Given the description of an element on the screen output the (x, y) to click on. 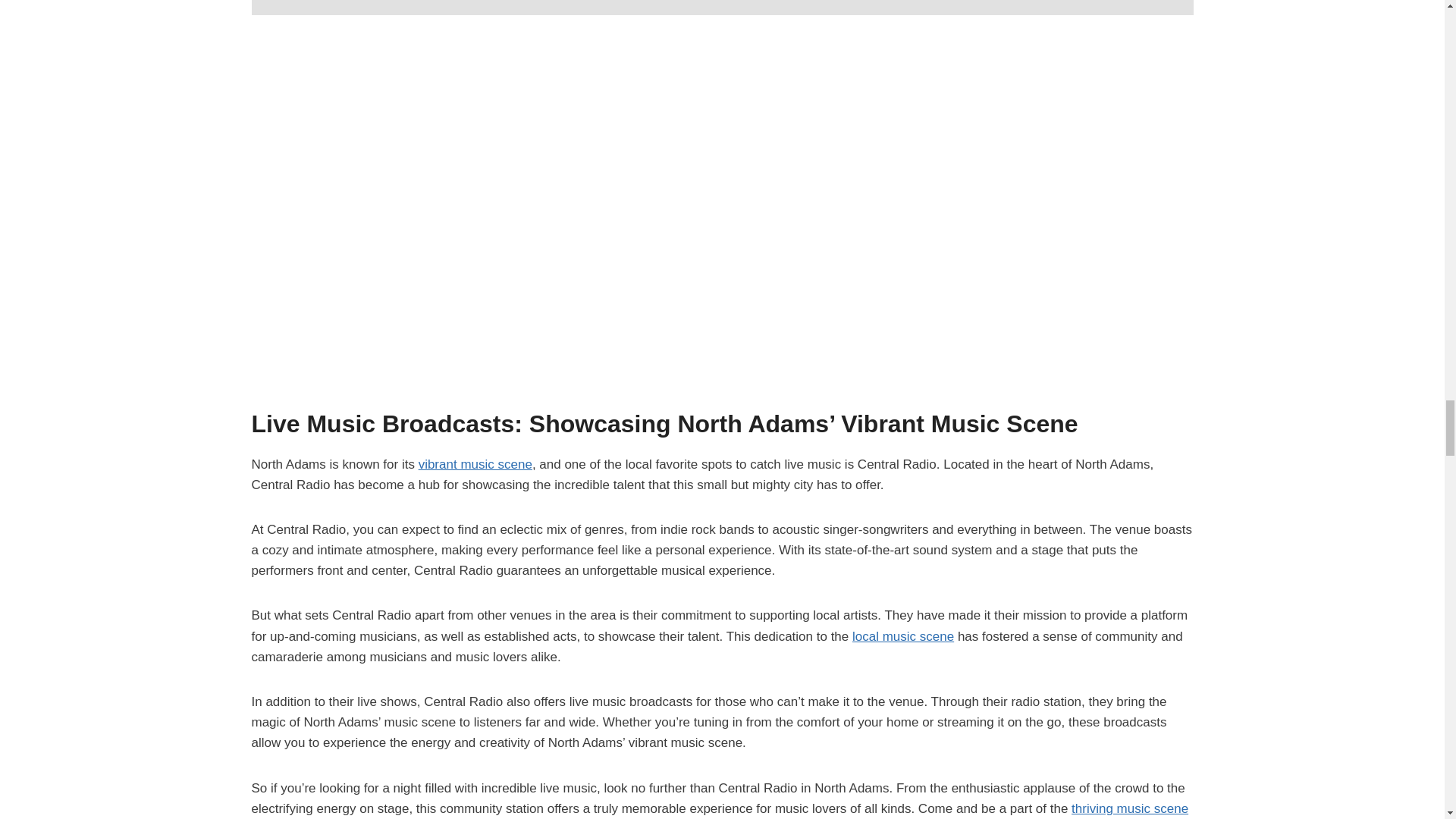
thriving music scene (1129, 808)
local music scene (902, 636)
vibrant music scene (475, 464)
